Given the description of an element on the screen output the (x, y) to click on. 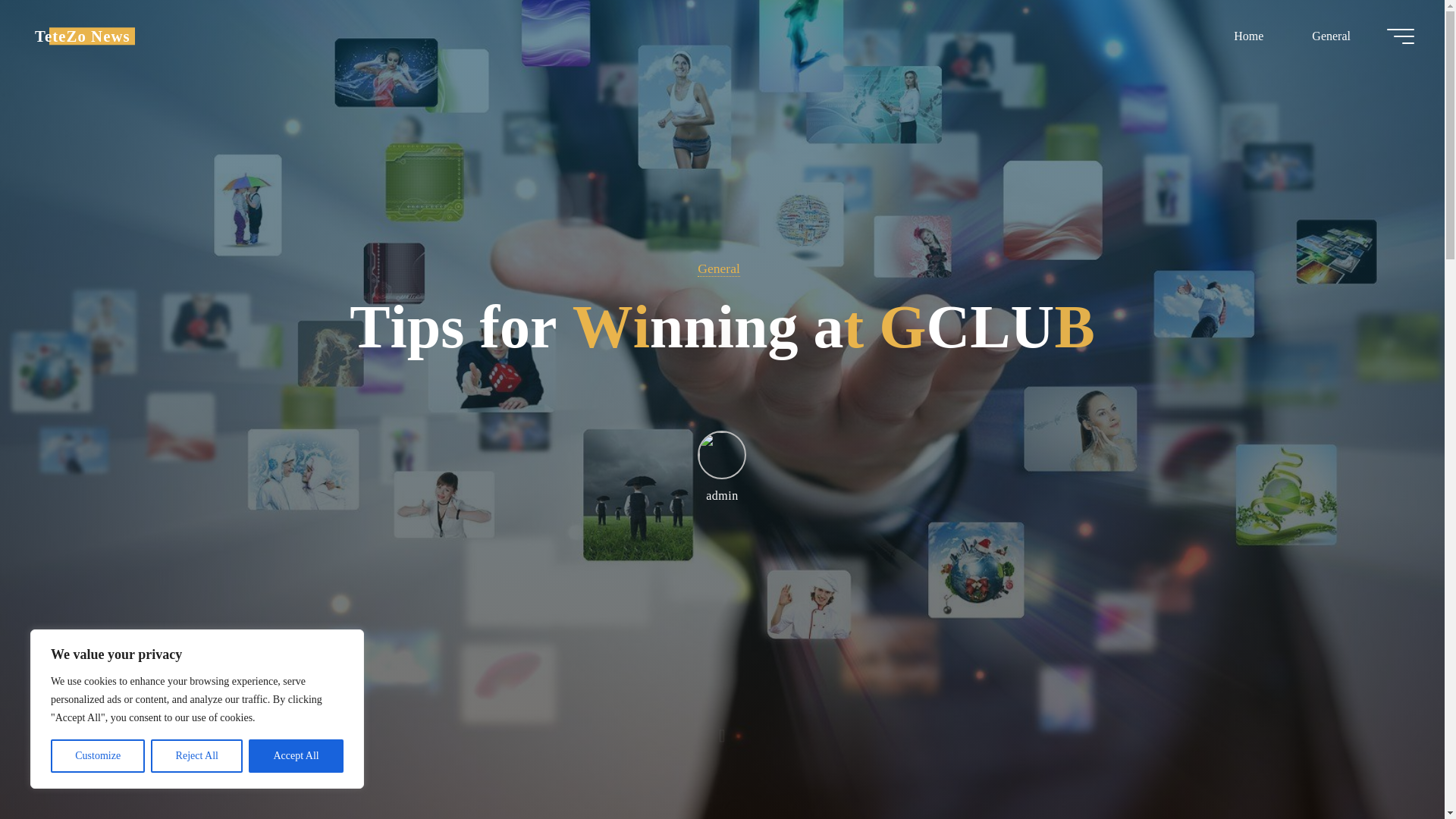
Customize (97, 756)
General (718, 268)
TeteZo News (82, 36)
Home (1248, 35)
Read more (721, 724)
Blog (82, 36)
Accept All (295, 756)
General (1330, 35)
Reject All (197, 756)
